Given the description of an element on the screen output the (x, y) to click on. 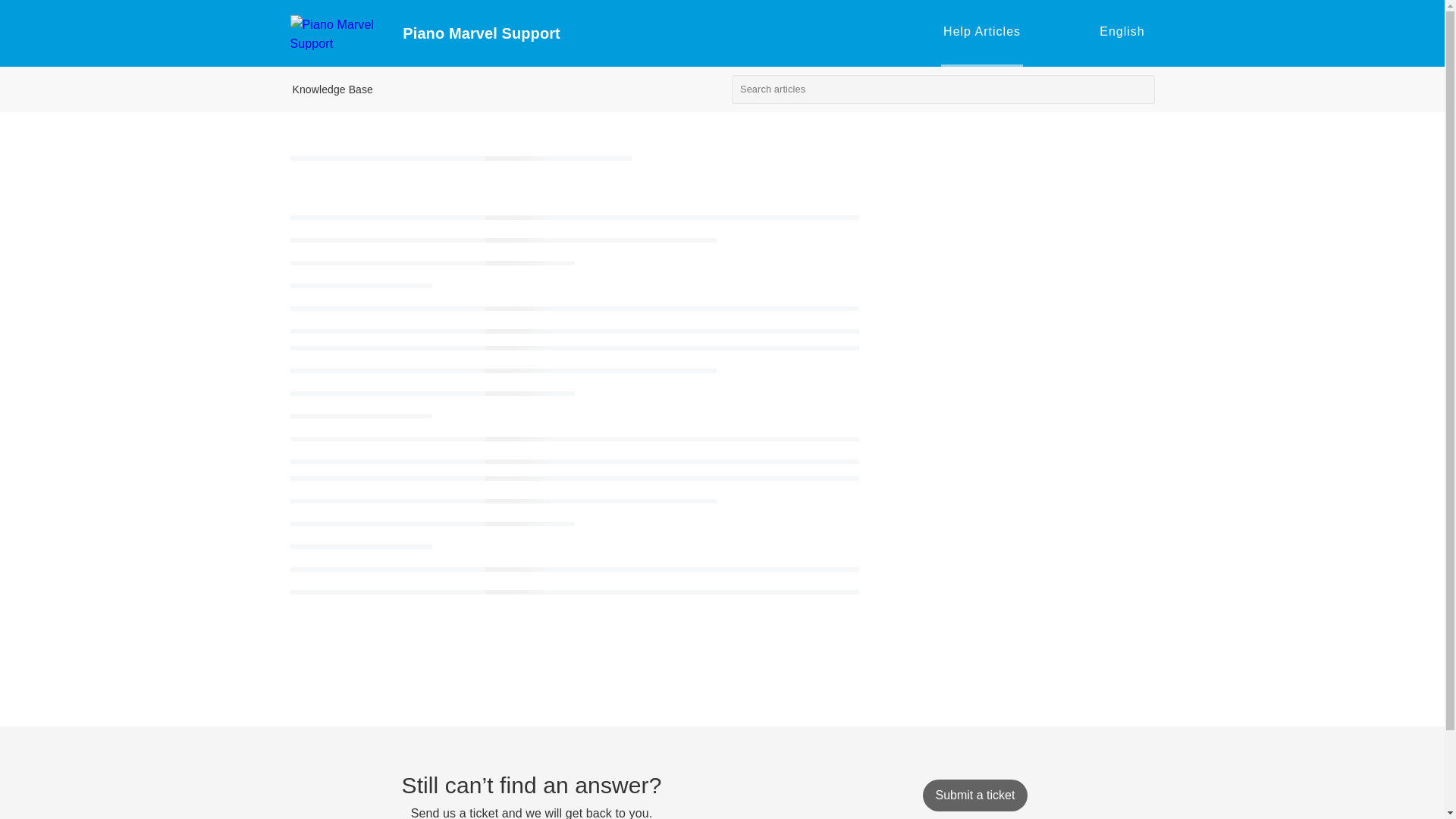
Help Articles (981, 33)
Piano Marvel Support (666, 33)
Submit a ticket (974, 794)
Help Articles (981, 31)
Knowledge Base (332, 89)
Submit a ticket (974, 795)
English (1118, 31)
